Given the description of an element on the screen output the (x, y) to click on. 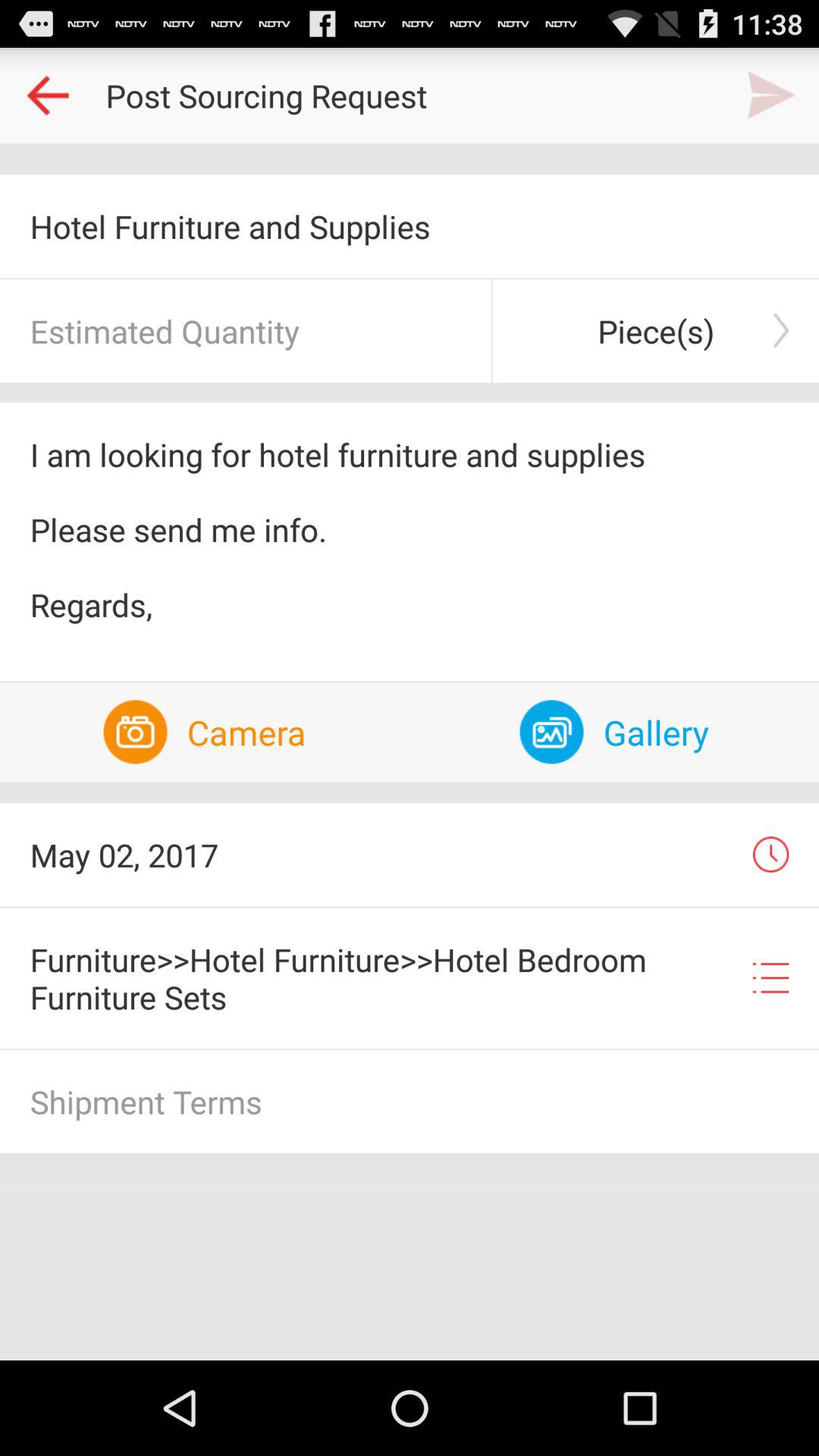
go to previous (47, 95)
